Given the description of an element on the screen output the (x, y) to click on. 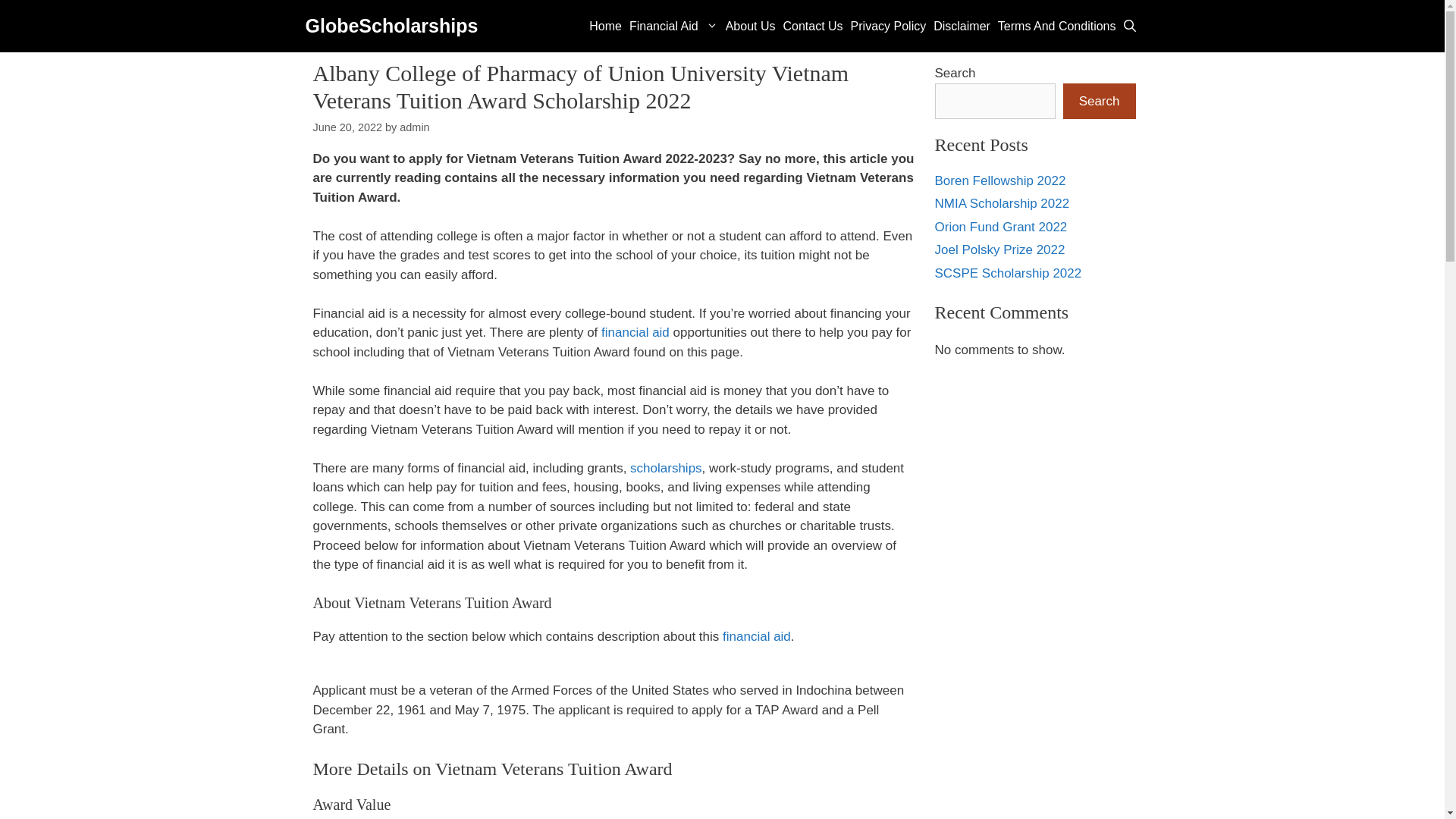
Privacy Policy (888, 26)
Financial Aid (674, 26)
Boren Fellowship 2022 (999, 180)
financial aid (756, 636)
GlobeScholarships (390, 26)
Search (1098, 101)
Joel Polsky Prize 2022 (999, 249)
SCSPE Scholarship 2022 (1007, 273)
NMIA Scholarship 2022 (1001, 203)
Orion Fund Grant 2022 (1000, 227)
financial aid (635, 332)
Terms And Conditions (1056, 26)
Disclaimer (962, 26)
admin (413, 127)
Contact Us (811, 26)
